Given the description of an element on the screen output the (x, y) to click on. 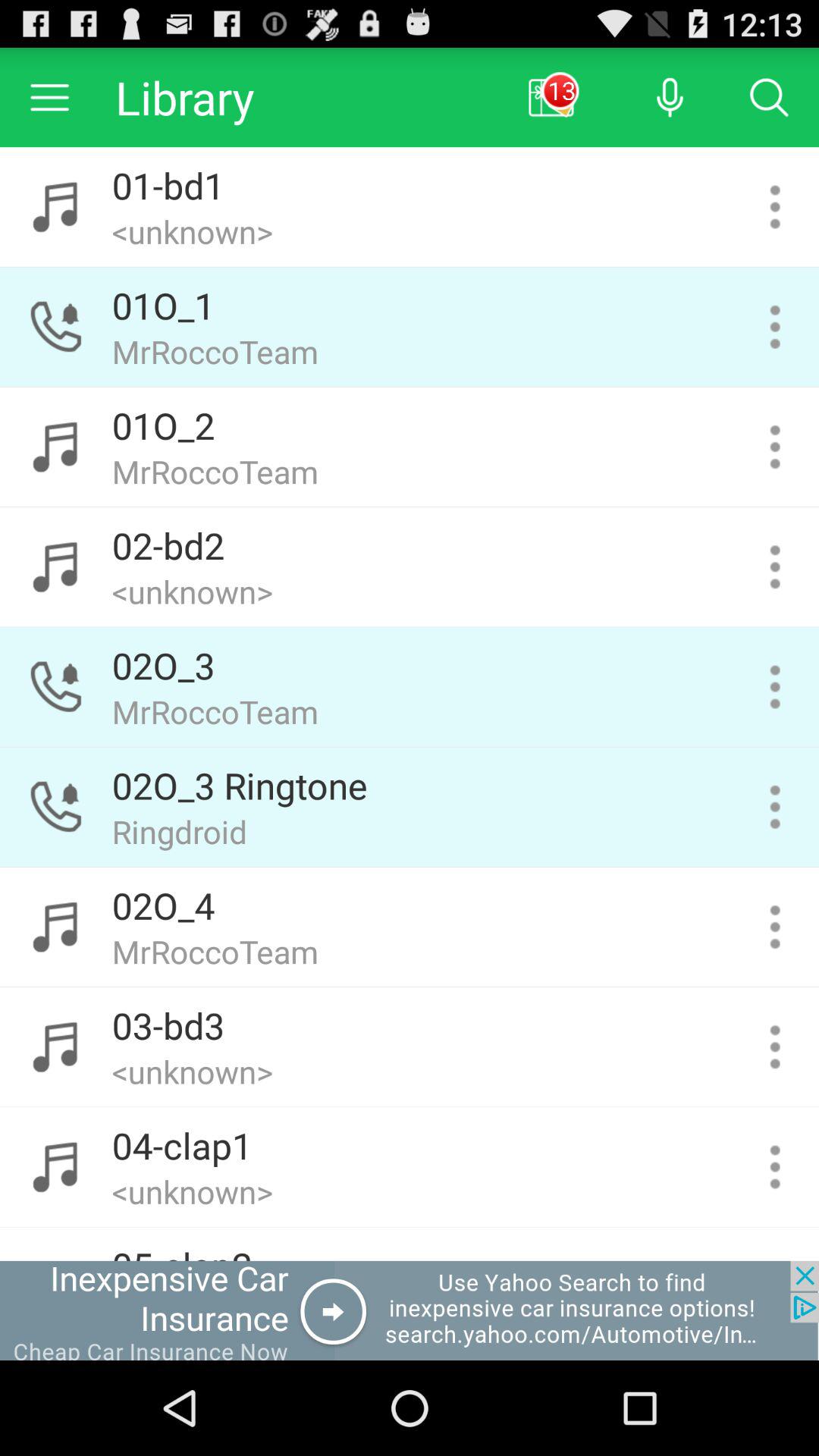
go to the advertisement (409, 1310)
